Given the description of an element on the screen output the (x, y) to click on. 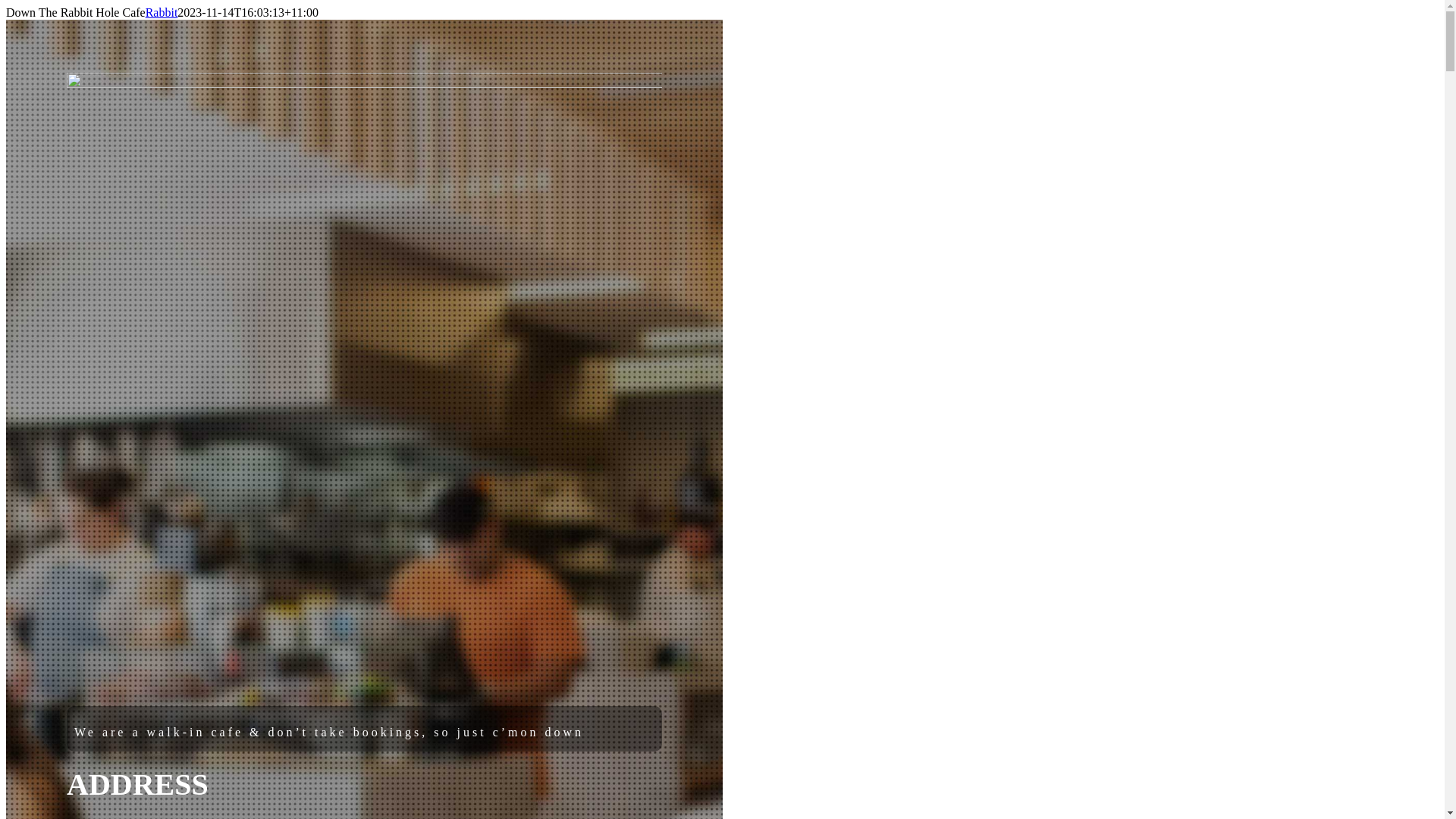
Skip to content Element type: text (5, 5)
Rabbit Element type: text (161, 12)
